Given the description of an element on the screen output the (x, y) to click on. 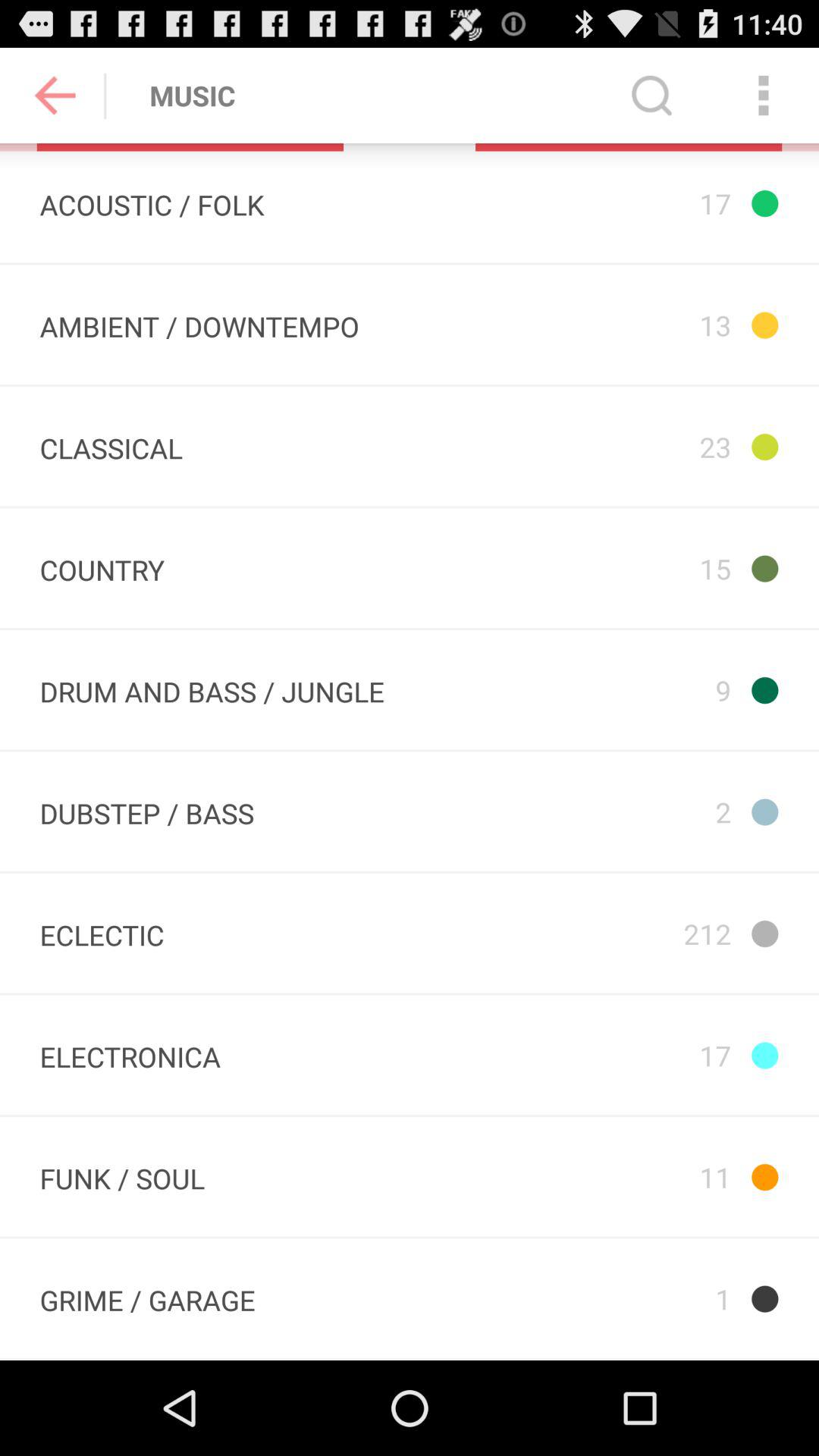
press the icon next to the 212 icon (130, 1054)
